Given the description of an element on the screen output the (x, y) to click on. 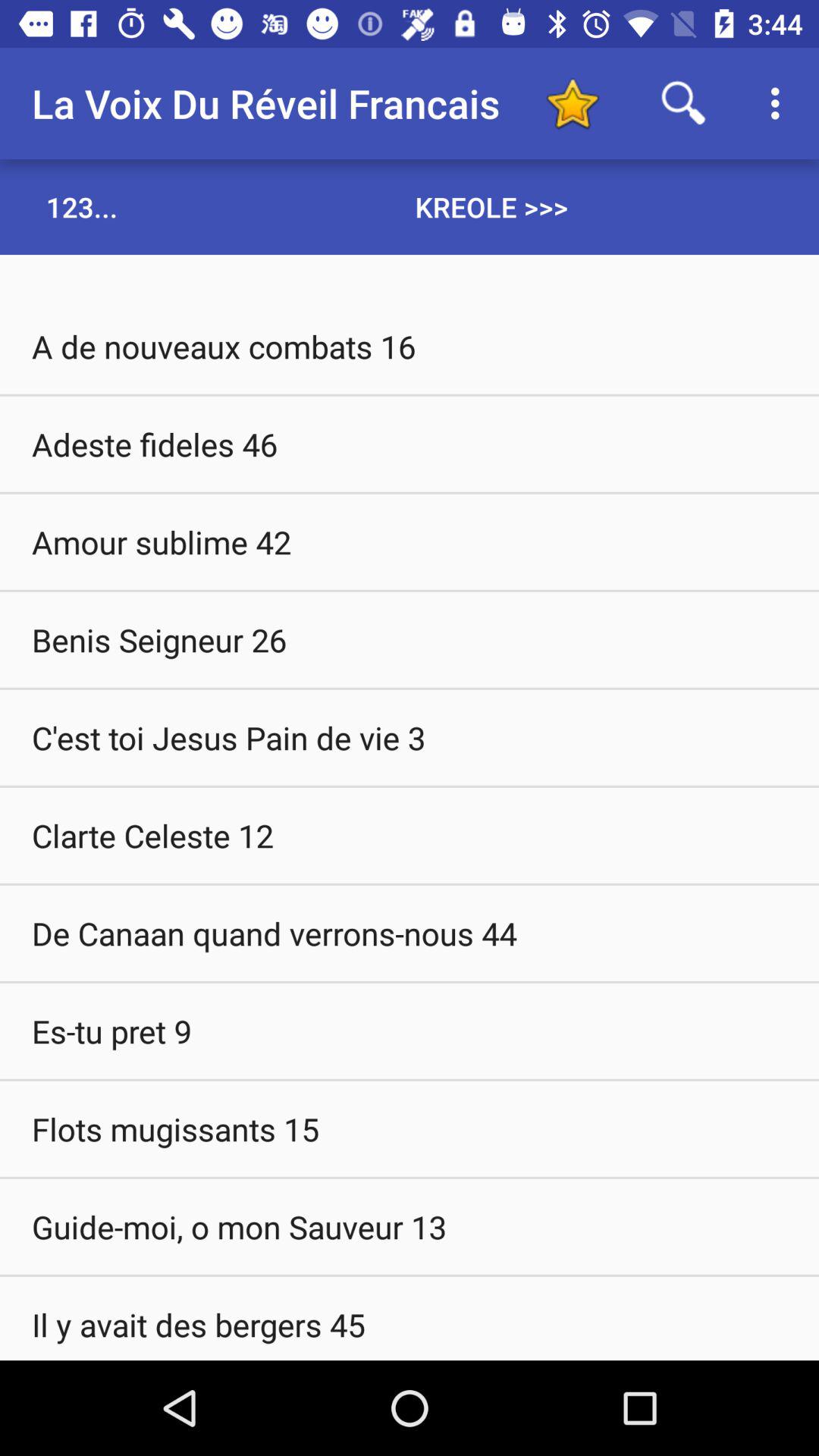
turn off icon above the de canaan quand item (409, 835)
